Given the description of an element on the screen output the (x, y) to click on. 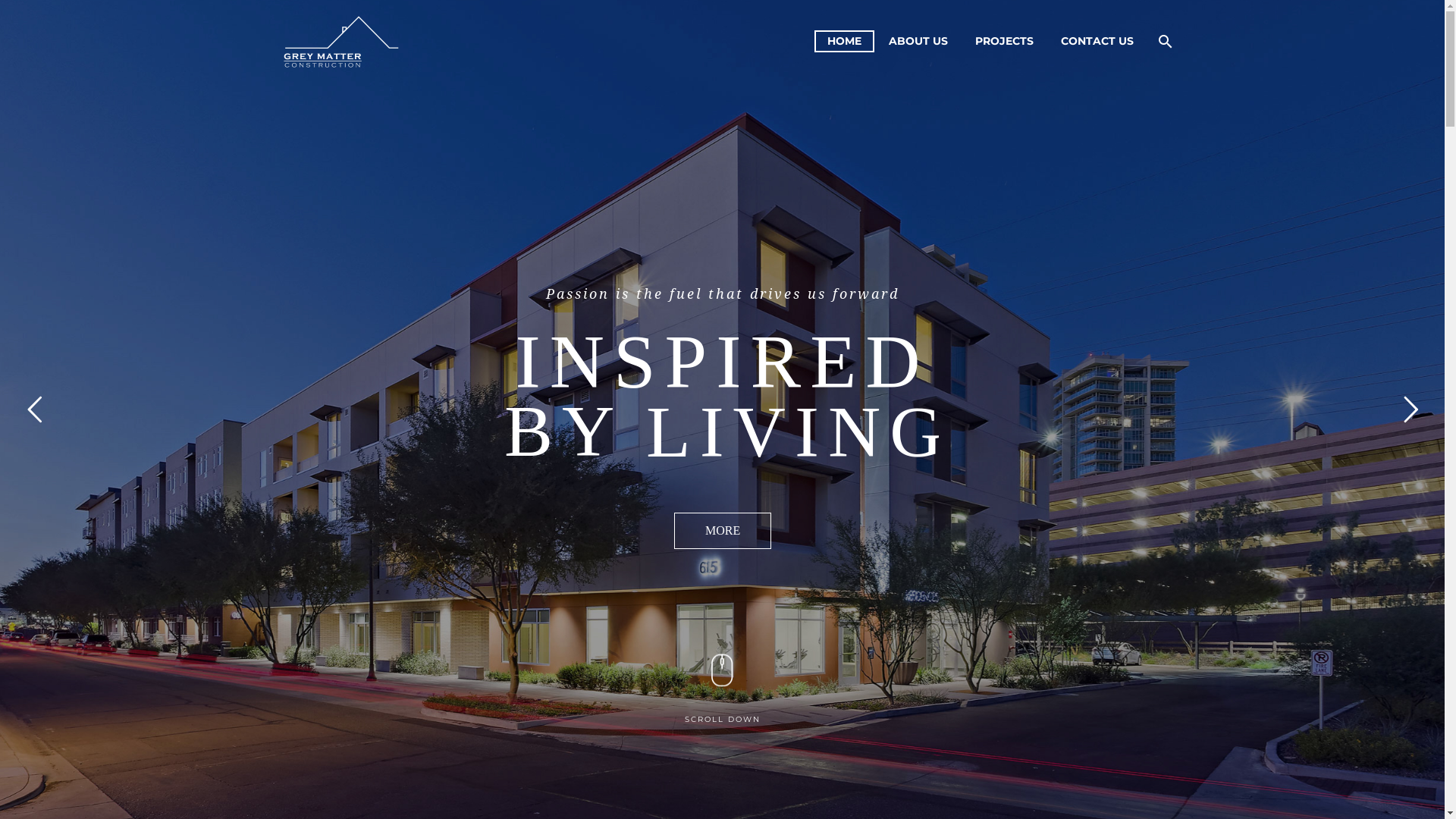
ABOUT US Element type: text (917, 40)
PROJECTS Element type: text (1003, 40)
HOME Element type: text (844, 41)
CONTACT US Element type: text (1097, 40)
